Given the description of an element on the screen output the (x, y) to click on. 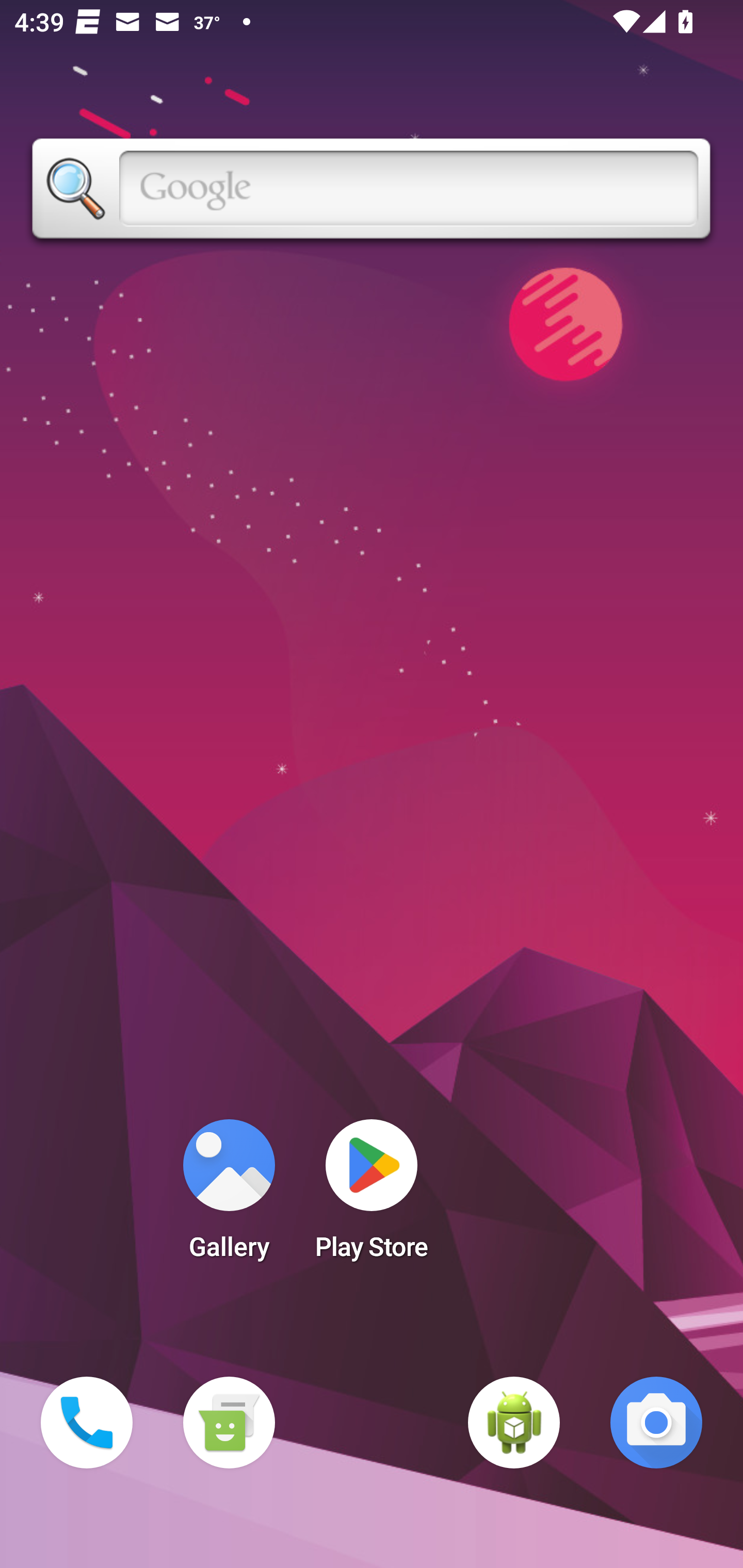
Gallery (228, 1195)
Play Store (371, 1195)
Phone (86, 1422)
Messaging (228, 1422)
WebView Browser Tester (513, 1422)
Camera (656, 1422)
